Given the description of an element on the screen output the (x, y) to click on. 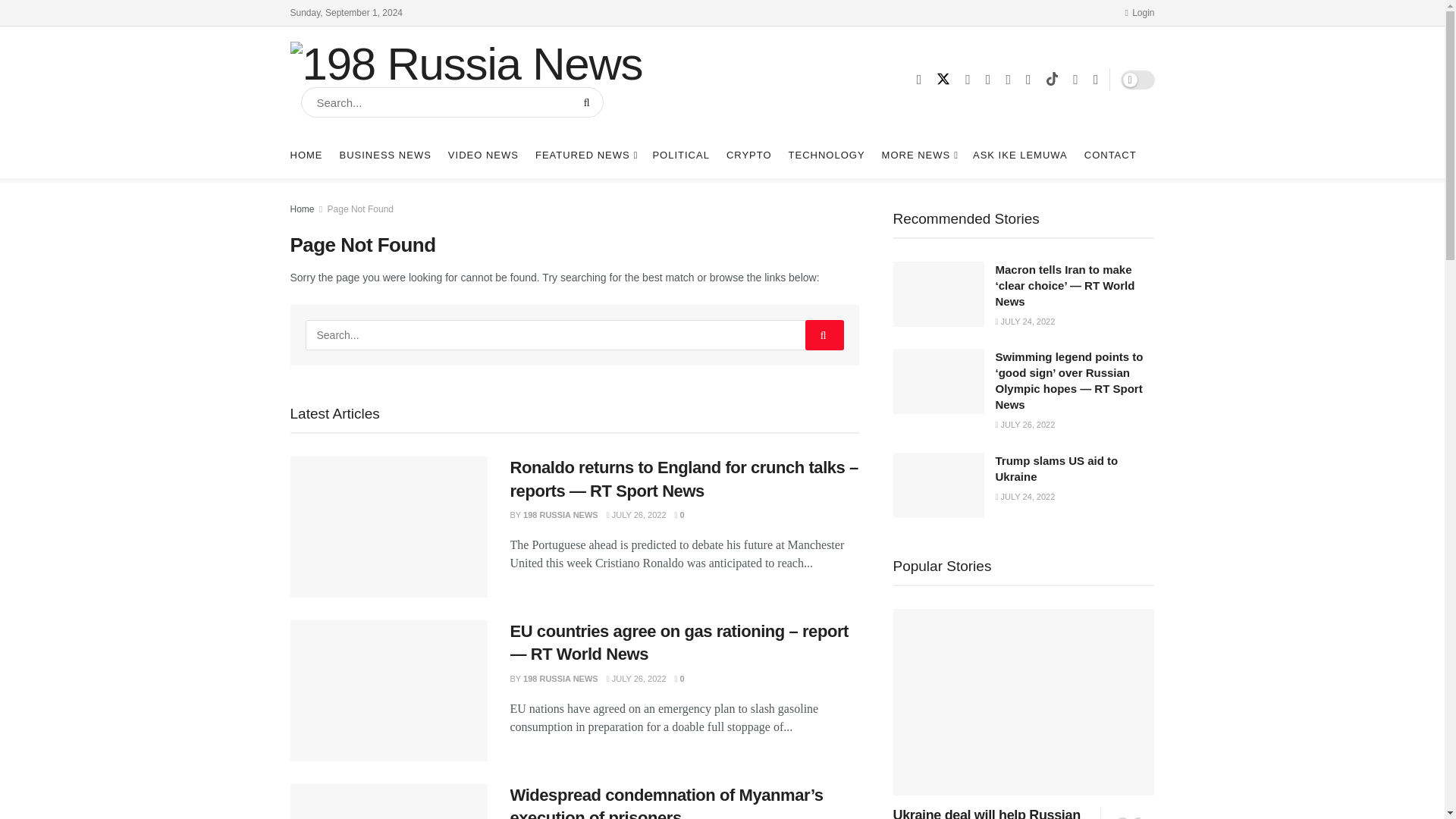
TECHNOLOGY (826, 155)
BUSINESS NEWS (384, 155)
FEATURED NEWS (584, 155)
VIDEO NEWS (483, 155)
CRYPTO (748, 155)
Login (1139, 12)
POLITICAL (680, 155)
MORE NEWS (919, 155)
